Given the description of an element on the screen output the (x, y) to click on. 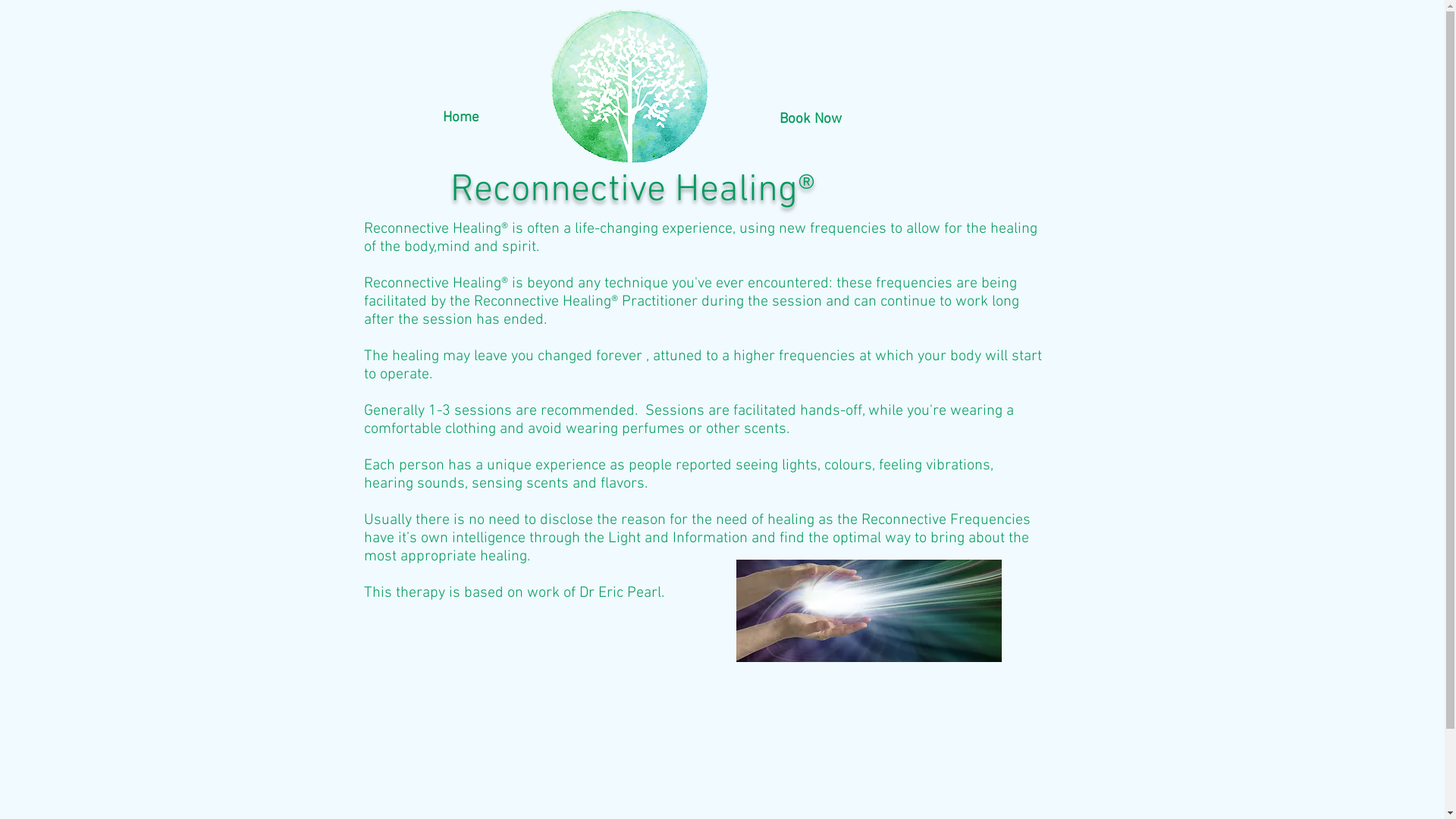
Book Now Element type: text (810, 119)
Home Element type: text (460, 117)
